Given the description of an element on the screen output the (x, y) to click on. 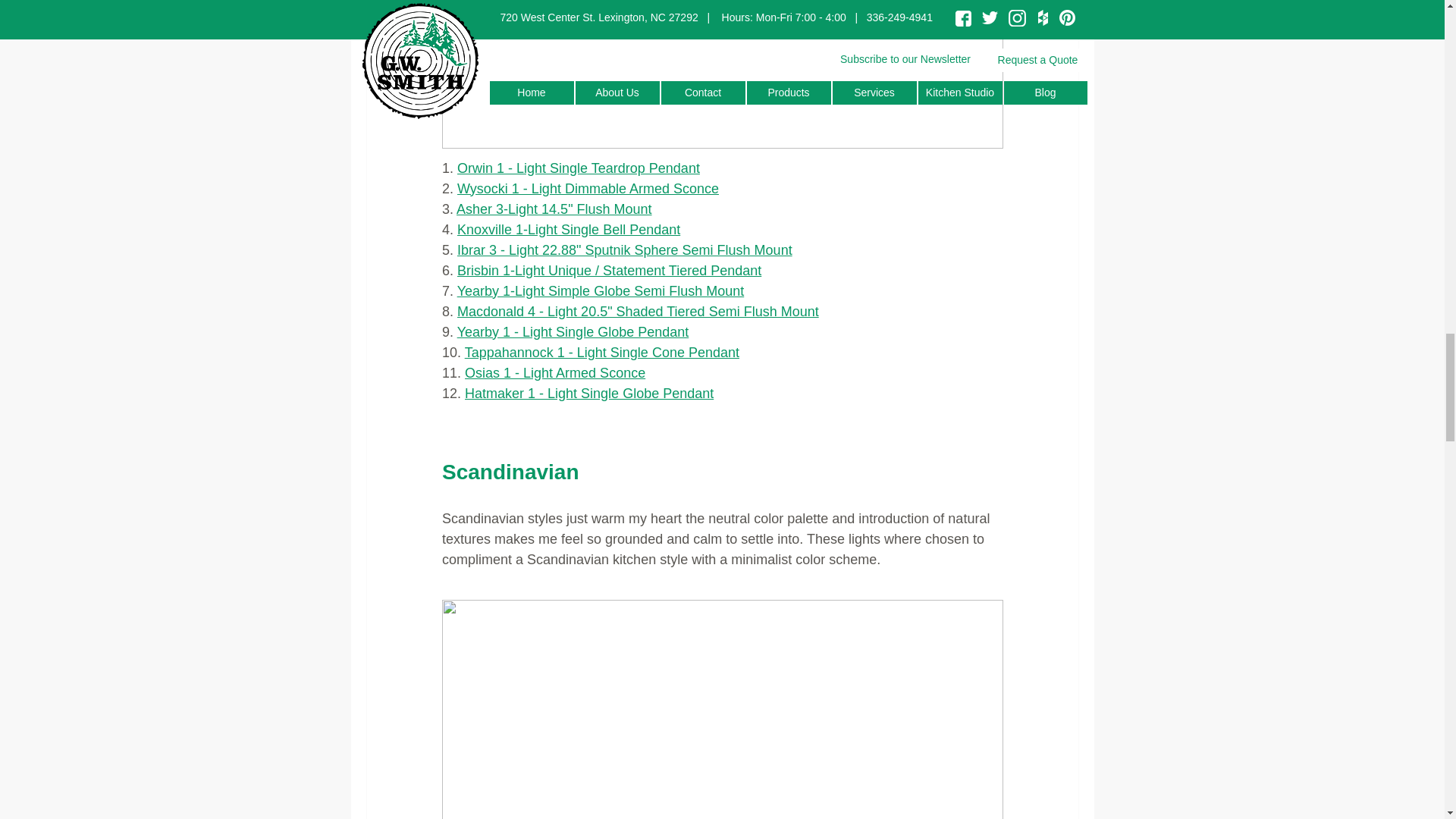
Asher 3-Light 14.5" Flush Mount (554, 209)
Macdonald 4 - Light 20.5" Shaded Tiered Semi Flush Mount (637, 311)
Wysocki 1 - Light Dimmable Armed Sconce (588, 188)
Yearby 1-Light Simple Globe Semi Flush Mount (600, 290)
Ibrar 3 - Light 22.88" Sputnik Sphere Semi Flush Mount (624, 249)
Yearby 1 - Light Single Globe Pendant (572, 331)
Hatmaker 1 - Light Single Globe Pendant (588, 393)
Knoxville 1-Light Single Bell Pendant (568, 229)
Tappahannock 1 - Light Single Cone Pendant (601, 352)
Orwin 1 - Light Single Teardrop Pendant (578, 168)
Osias 1 - Light Armed Sconce (554, 372)
